Given the description of an element on the screen output the (x, y) to click on. 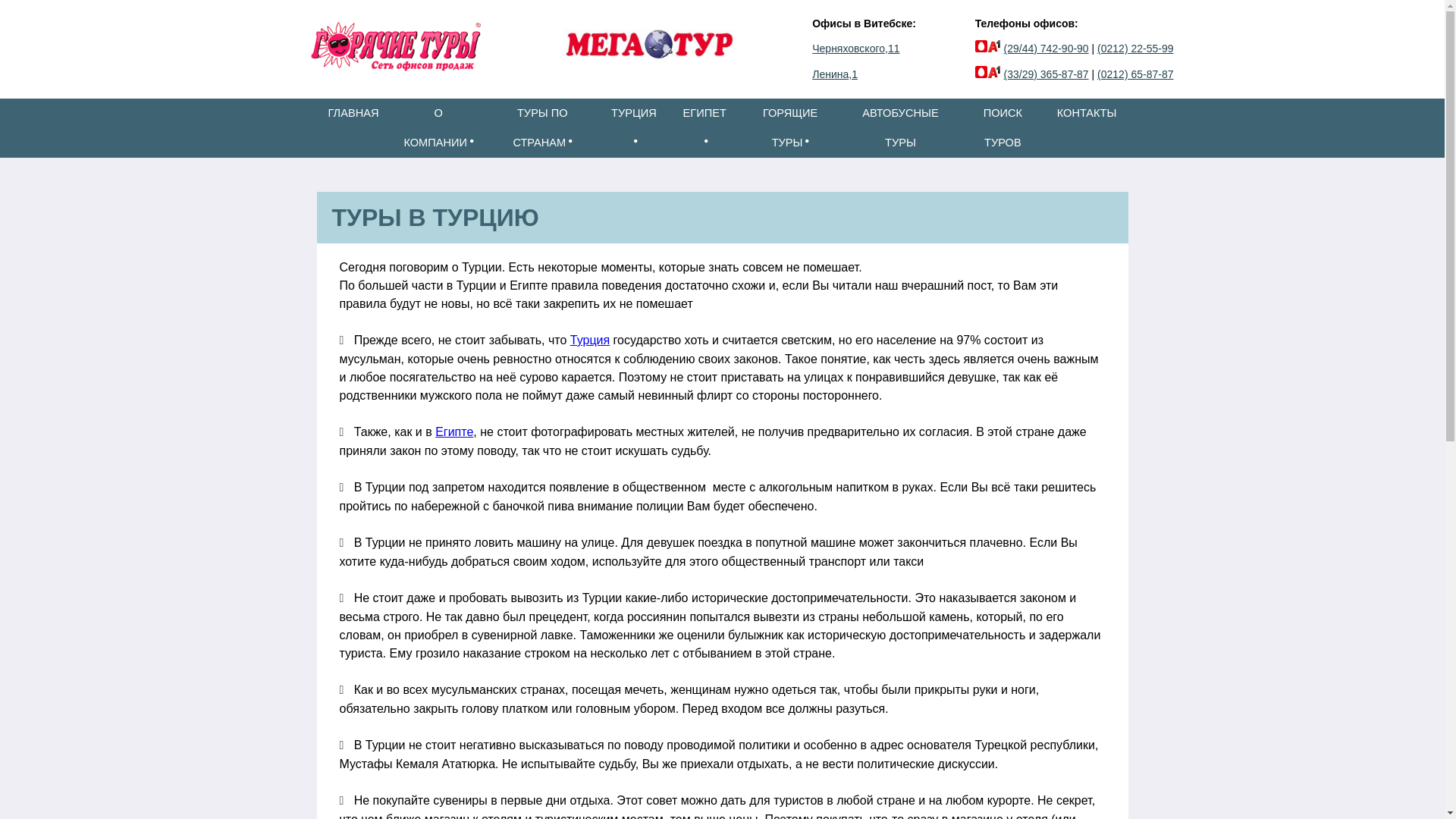
(0212) 65-87-87 Element type: text (1135, 74)
(29/44) 742-90-90 Element type: text (1046, 48)
(33/29) 365-87-87 Element type: text (1046, 74)
(0212) 22-55-99 Element type: text (1135, 48)
